Given the description of an element on the screen output the (x, y) to click on. 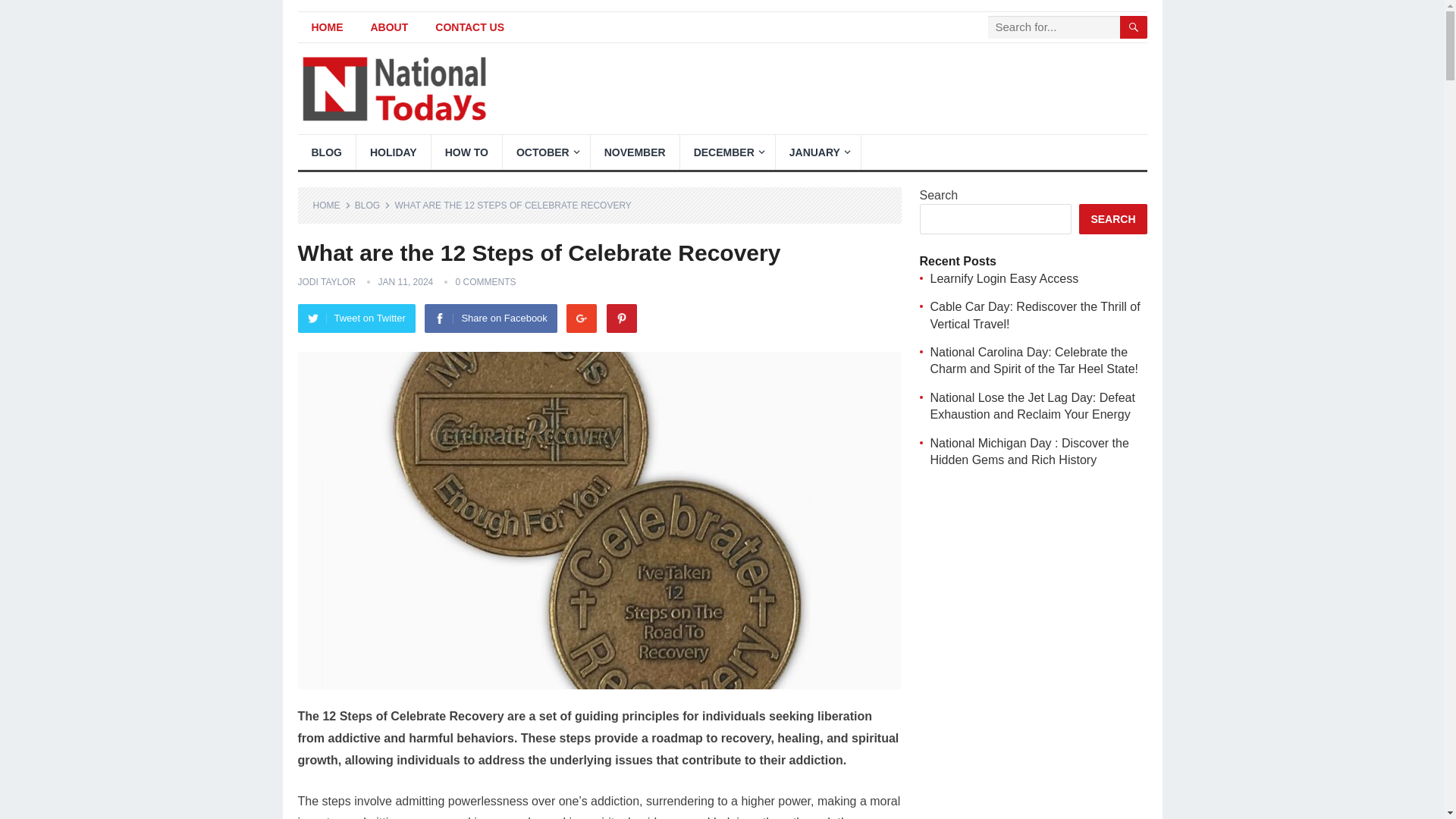
View all posts in Blog (372, 204)
Posts by Jodi Taylor (326, 281)
DECEMBER (726, 152)
HOME (326, 27)
HOLIDAY (393, 152)
OCTOBER (545, 152)
CONTACT US (470, 27)
HOW TO (466, 152)
BLOG (326, 152)
ABOUT (389, 27)
